Given the description of an element on the screen output the (x, y) to click on. 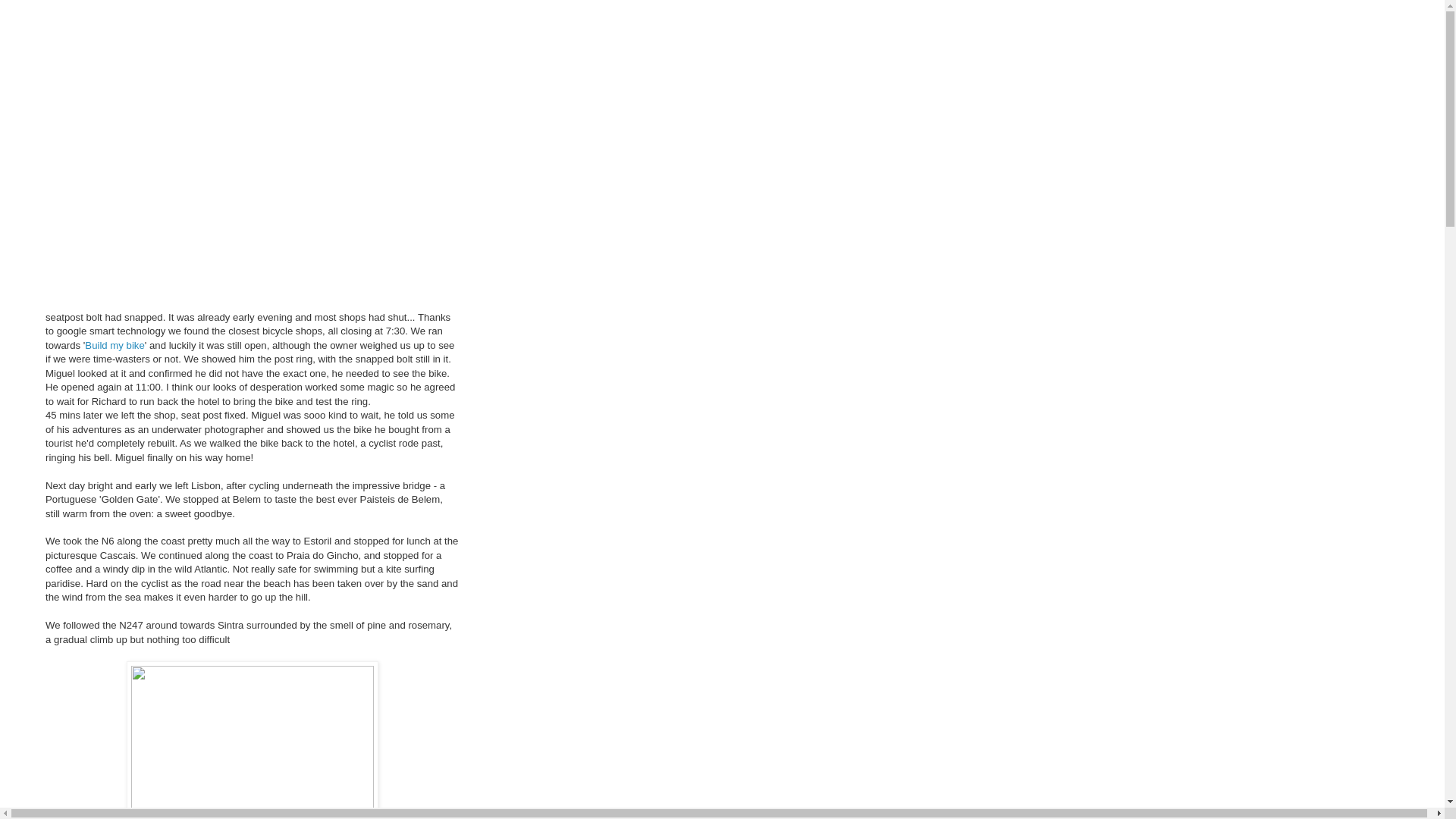
Build my bike Element type: text (114, 345)
